Given the description of an element on the screen output the (x, y) to click on. 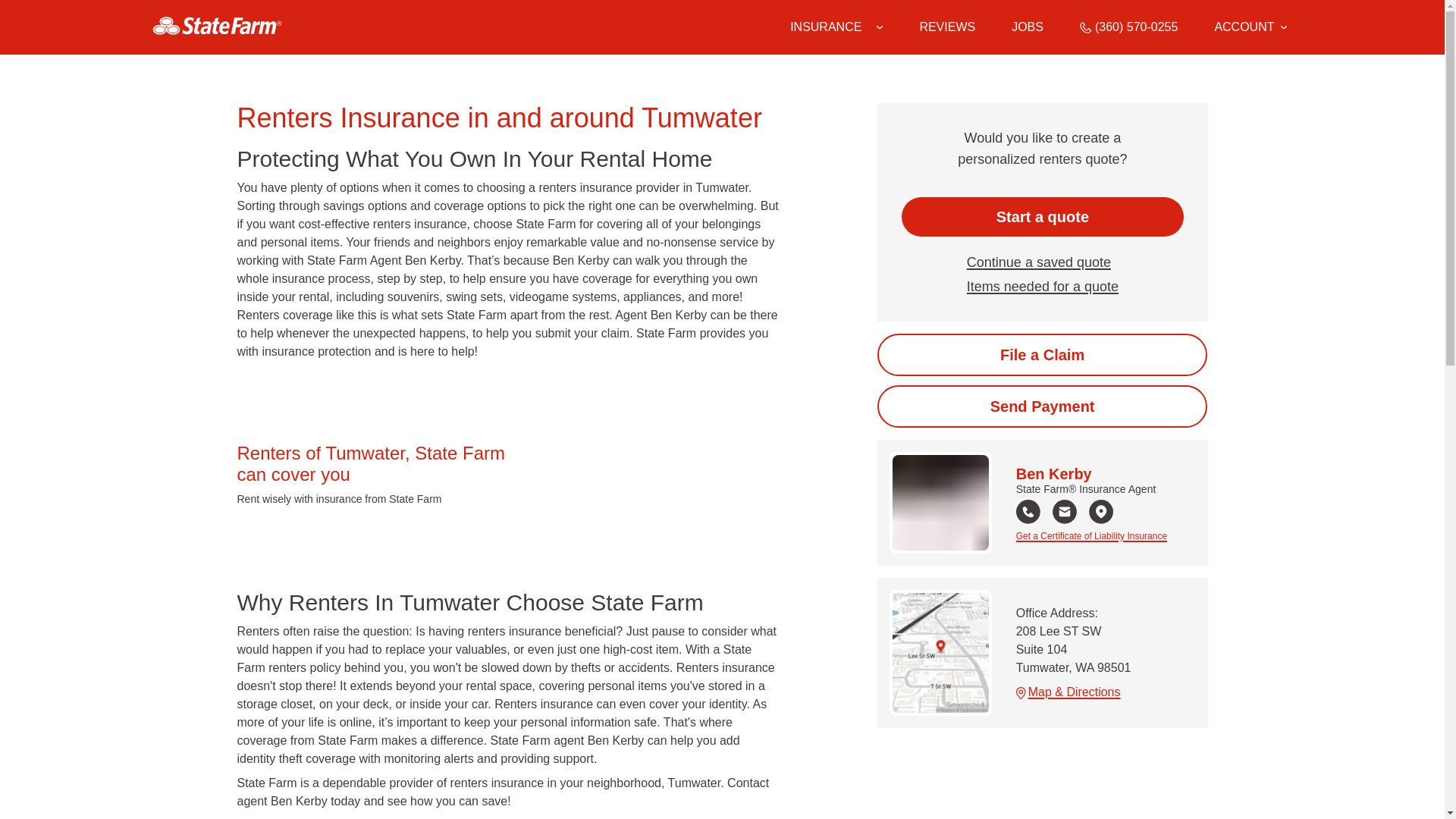
INSURANCE (825, 27)
REVIEWS (946, 27)
ACCOUNT (1250, 27)
Insurance (836, 27)
Start the claim process online (1042, 354)
Account Options (1250, 27)
JOBS (1027, 27)
